Given the description of an element on the screen output the (x, y) to click on. 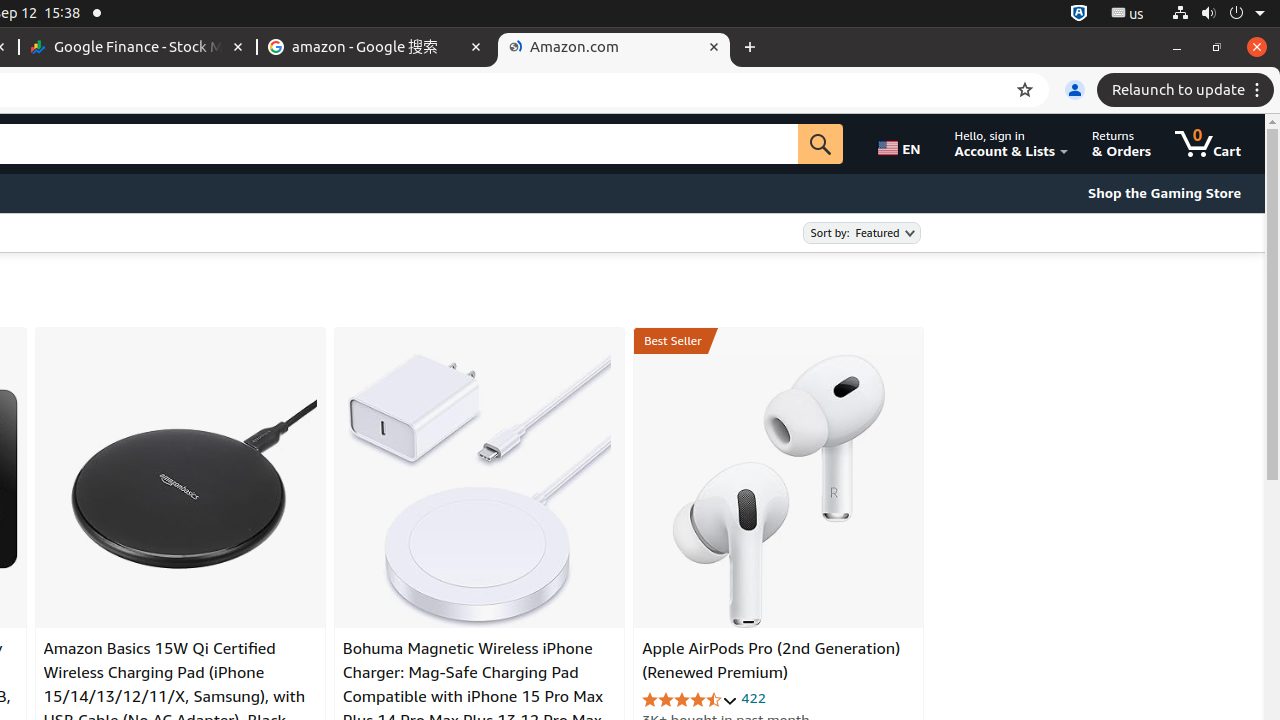
:1.21/StatusNotifierItem Element type: menu (1127, 13)
Choose a language for shopping. Element type: link (903, 144)
Shop the Gaming Store Element type: link (1164, 193)
Amazon Basics 15W Qi Certified Wireless Charging Pad (iPhone 15/14/13/12/11/X, Samsung), with USB Cable (No AC Adapter), B... Element type: link (180, 491)
Bookmark this tab Element type: push-button (1025, 90)
